Given the description of an element on the screen output the (x, y) to click on. 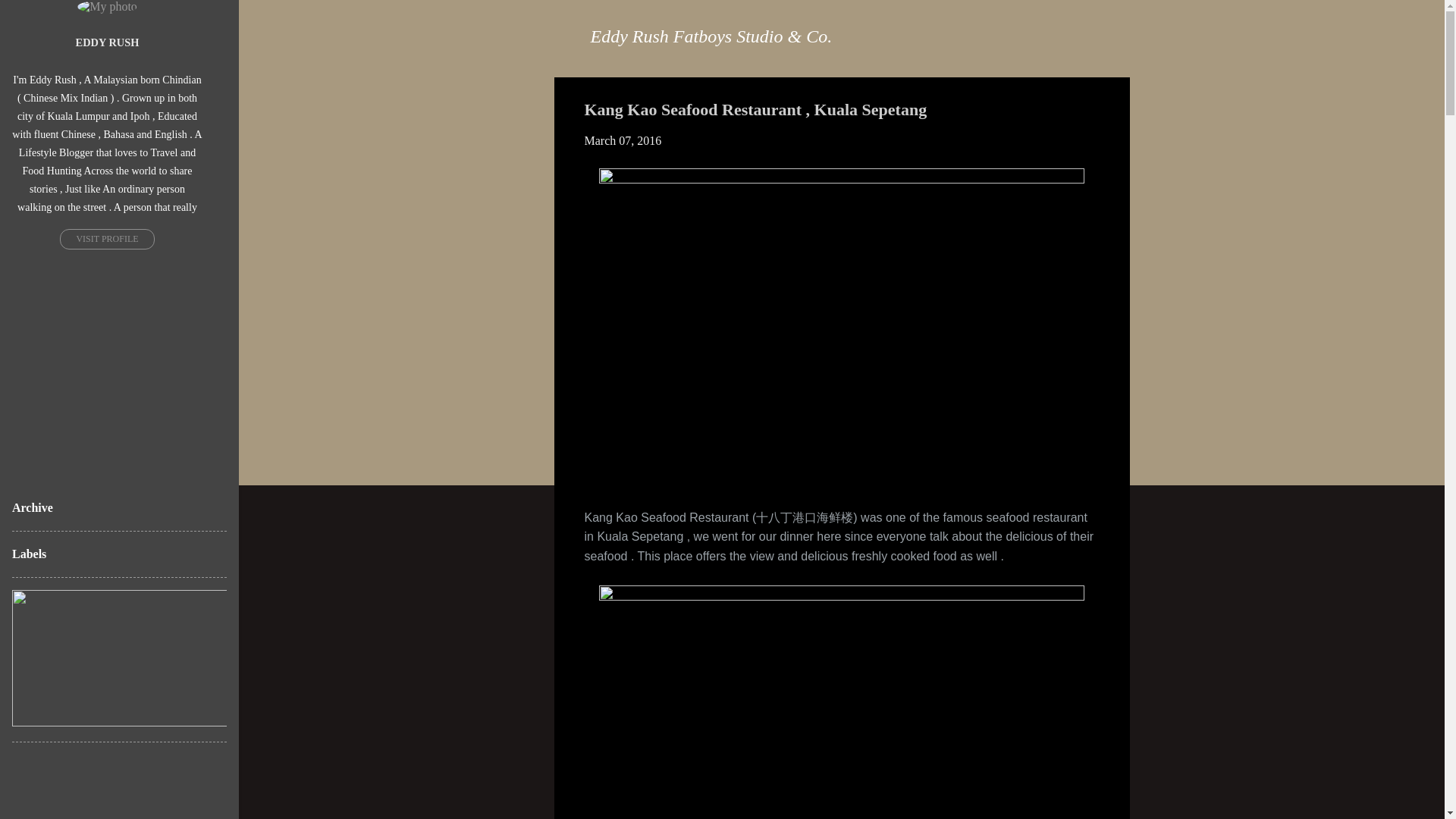
March 07, 2016 (622, 140)
permanent link (622, 140)
Search (31, 18)
